Given the description of an element on the screen output the (x, y) to click on. 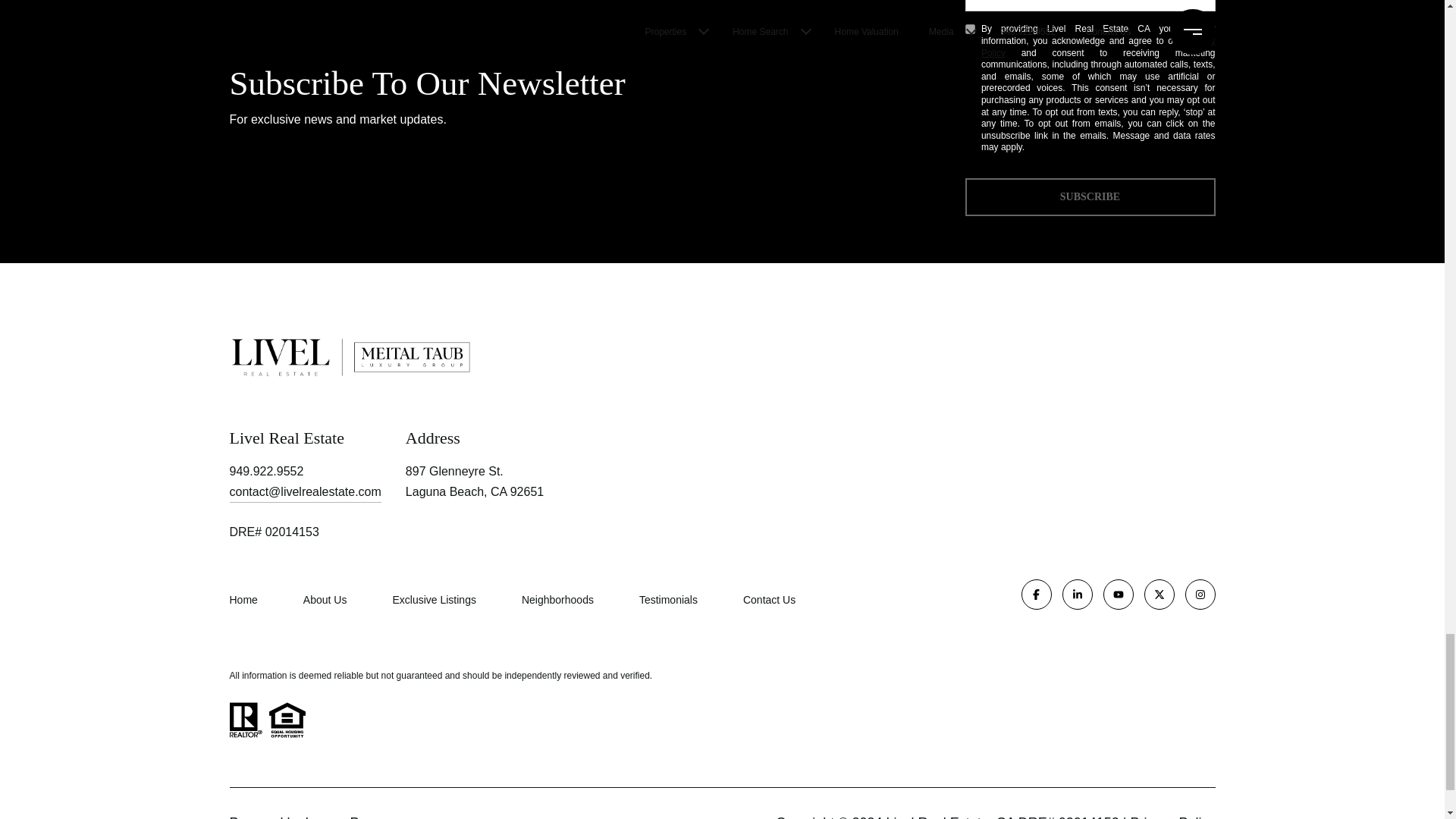
on (968, 29)
